Given the description of an element on the screen output the (x, y) to click on. 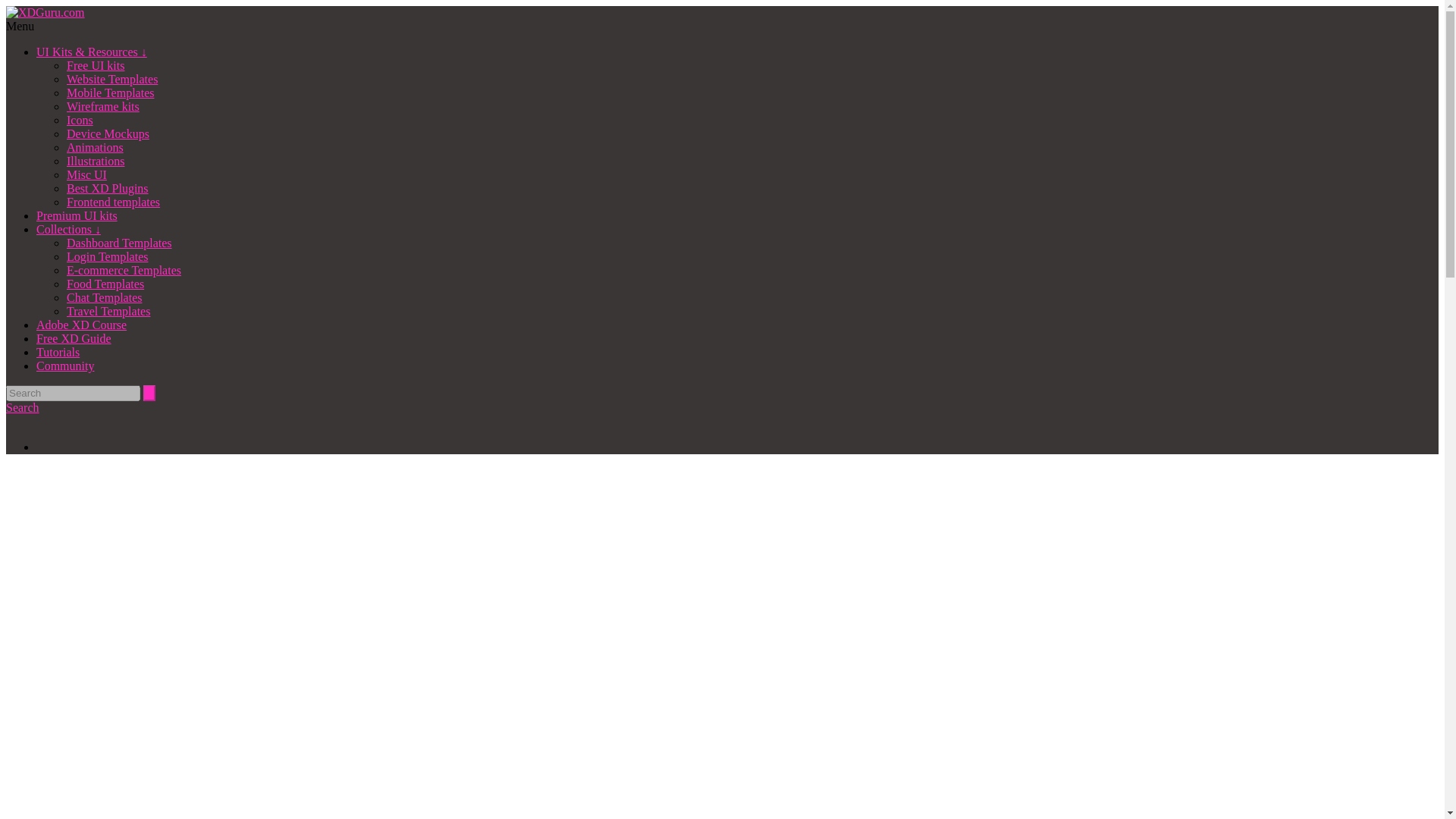
Adobe XD Course (81, 324)
Misc UI (86, 174)
Dashboard Templates (118, 242)
Search (22, 407)
Food Templates (105, 283)
Premium UI kits (76, 215)
Tutorials (58, 351)
Icons (79, 119)
Community (65, 365)
Travel Templates (107, 310)
Frontend templates (113, 201)
Device Mockups (107, 133)
Login Templates (107, 256)
Free UI kits (94, 65)
E-commerce Templates (123, 269)
